Given the description of an element on the screen output the (x, y) to click on. 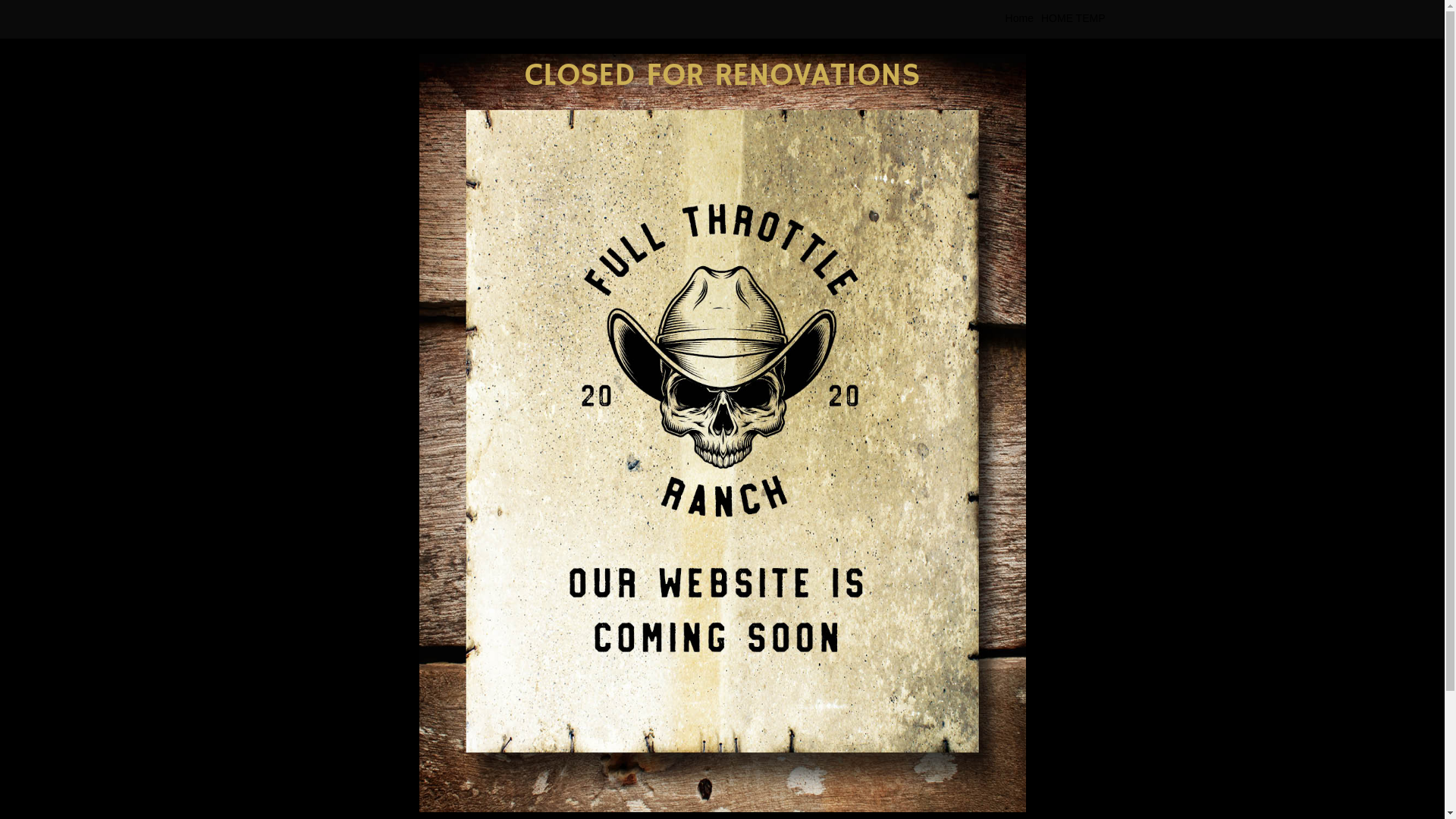
Home Element type: text (1019, 18)
HOME TEMP Element type: text (1073, 18)
